Given the description of an element on the screen output the (x, y) to click on. 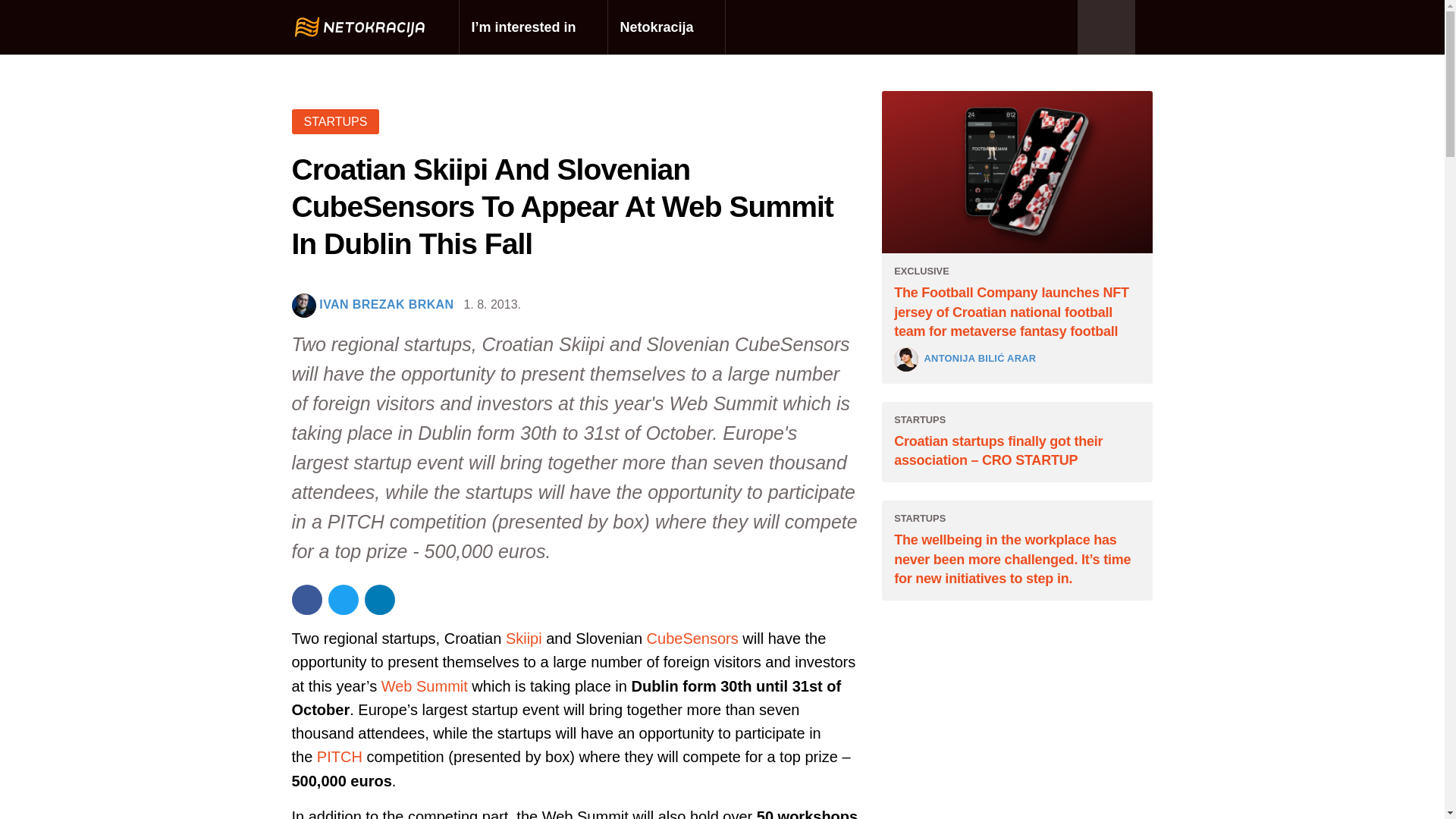
PITCH (339, 756)
Netokracija CEE (359, 27)
Posts by Ivan Brezak Brkan (385, 304)
Skiipi (525, 638)
STARTUPS (334, 121)
CubeSensors (692, 638)
Netokracija (666, 27)
IVAN BREZAK BRKAN (385, 304)
Web Summit (424, 686)
